Given the description of an element on the screen output the (x, y) to click on. 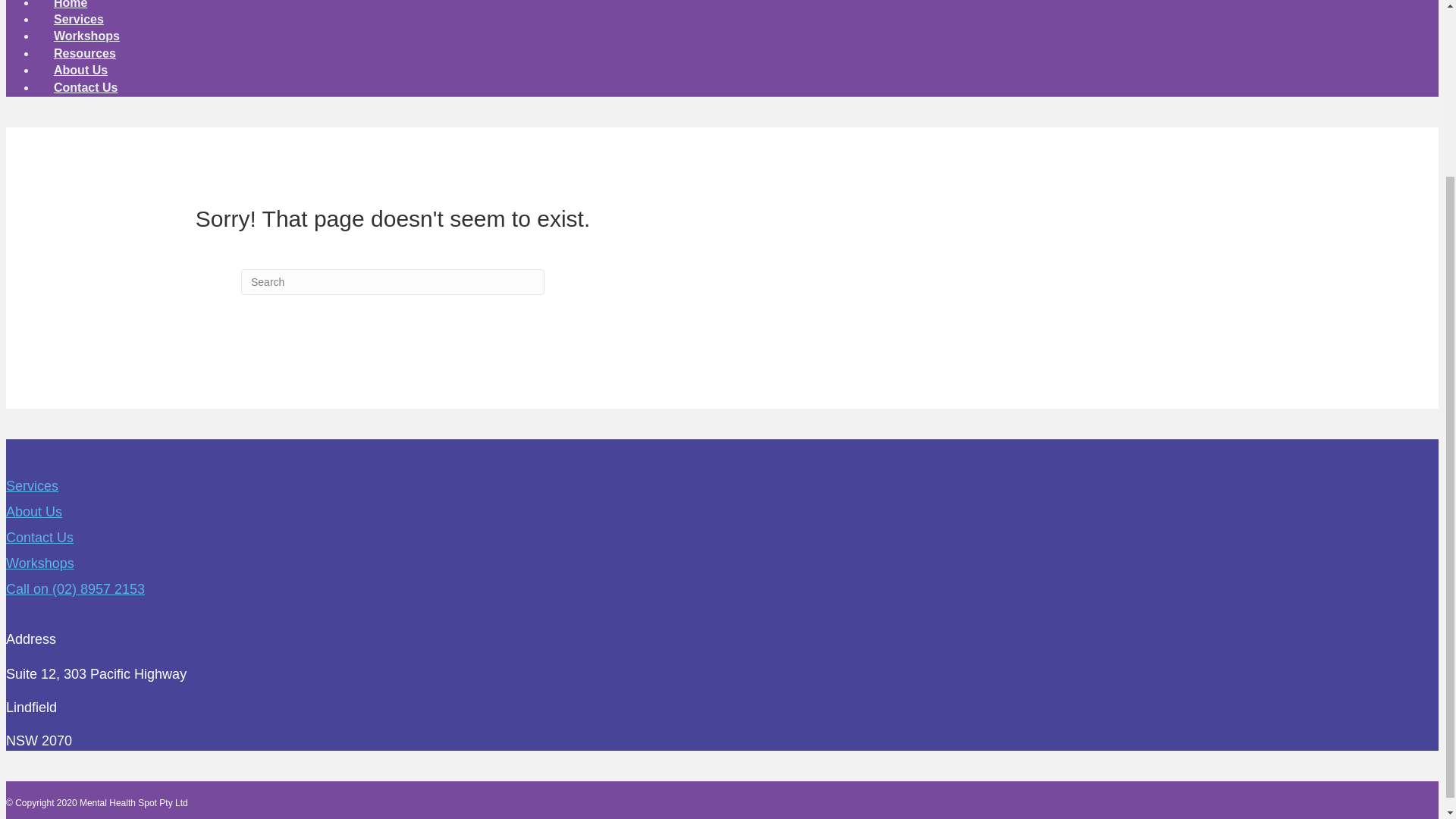
Workshops (86, 36)
About Us (33, 511)
Contact Us (39, 537)
Services (31, 485)
Contact Us (85, 87)
Home (70, 10)
Services (78, 18)
Type and press Enter to search. (392, 281)
Workshops (39, 563)
About Us (80, 69)
Search (392, 281)
Search (392, 281)
Resources (84, 53)
